Given the description of an element on the screen output the (x, y) to click on. 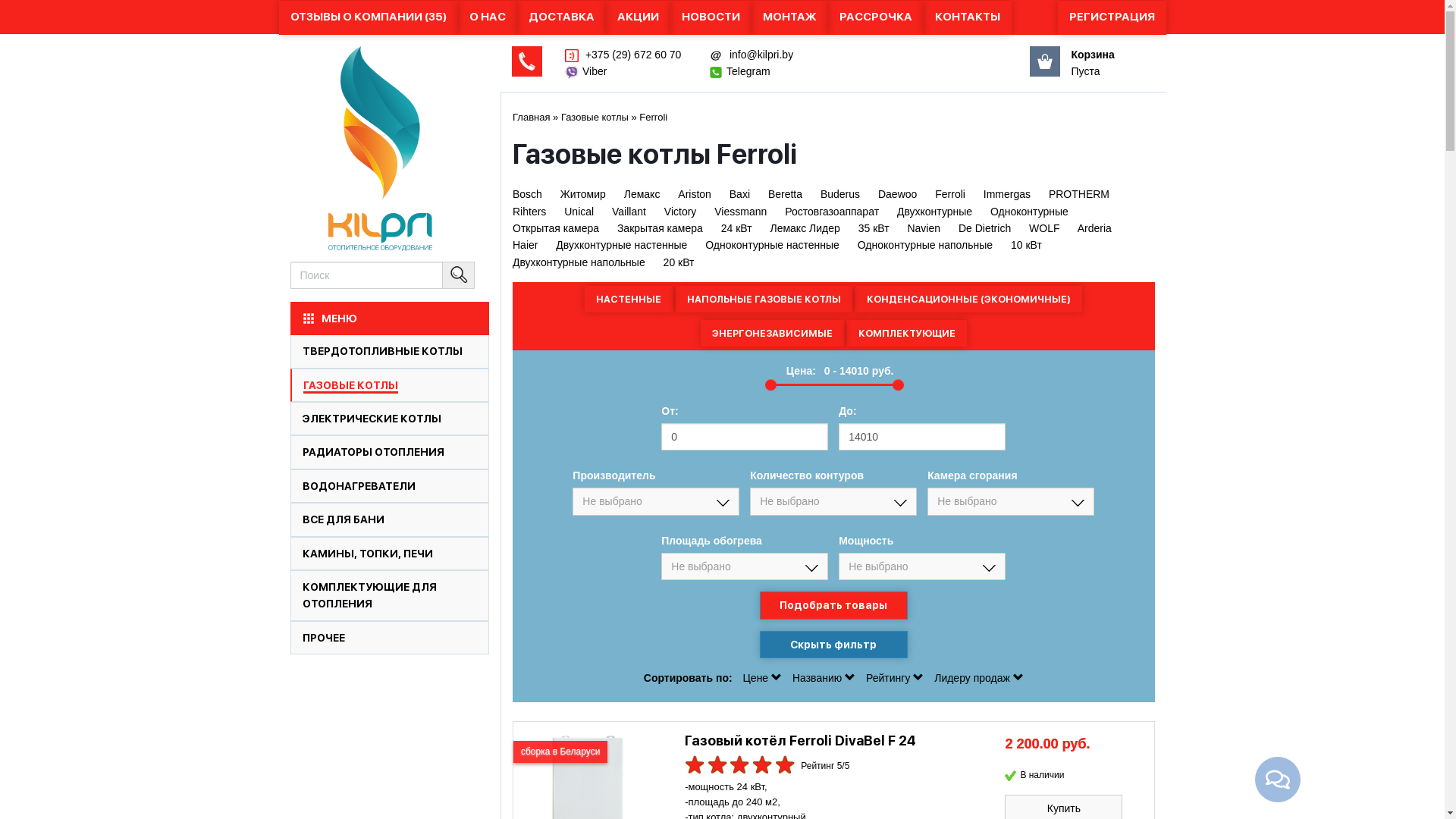
Ferroli Element type: text (950, 194)
Navien Element type: text (923, 228)
Rihters Element type: text (529, 211)
Arderia Element type: text (1094, 228)
PROTHERM Element type: text (1078, 194)
Haier Element type: text (524, 244)
Unical Element type: text (578, 211)
Daewoo Element type: text (897, 194)
Viessmann Element type: text (740, 211)
Ariston Element type: text (694, 194)
info@kilpri.by Element type: text (759, 54)
+375 (29) 672 60 70 Element type: text (631, 54)
Victory Element type: text (680, 211)
Buderus Element type: text (839, 194)
Viber Element type: text (594, 71)
WOLF Element type: text (1044, 228)
Beretta Element type: text (785, 194)
De Dietrich Element type: text (984, 228)
Ferroli Element type: text (653, 116)
Baxi Element type: text (739, 194)
Vaillant Element type: text (628, 211)
Telegram Element type: text (748, 71)
Immergas Element type: text (1006, 194)
Bosch Element type: text (527, 194)
